Given the description of an element on the screen output the (x, y) to click on. 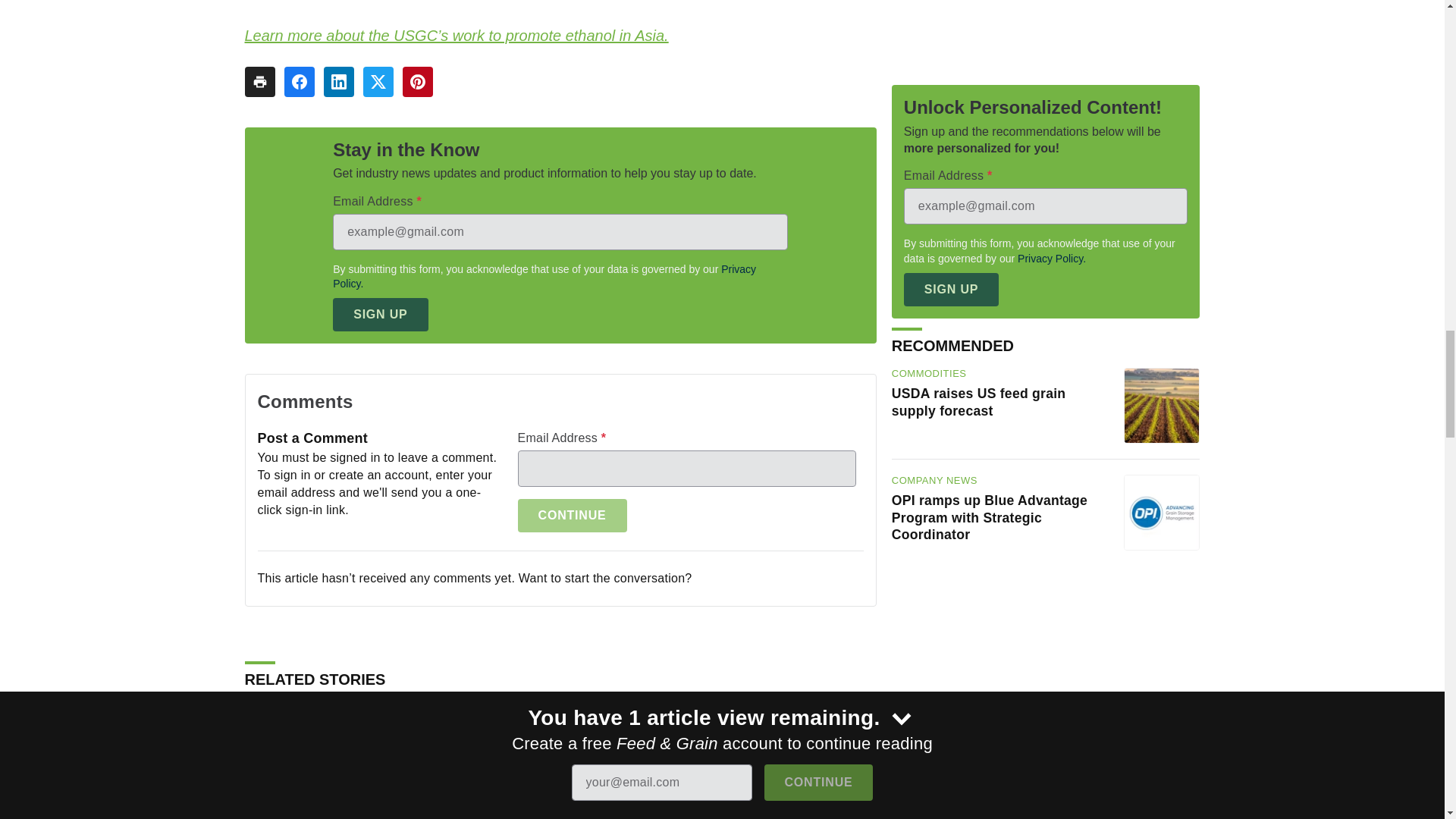
Share To twitter (377, 81)
Share To linkedin (338, 81)
Share To print (259, 81)
Share To facebook (298, 81)
Share To pinterest (416, 81)
